Given the description of an element on the screen output the (x, y) to click on. 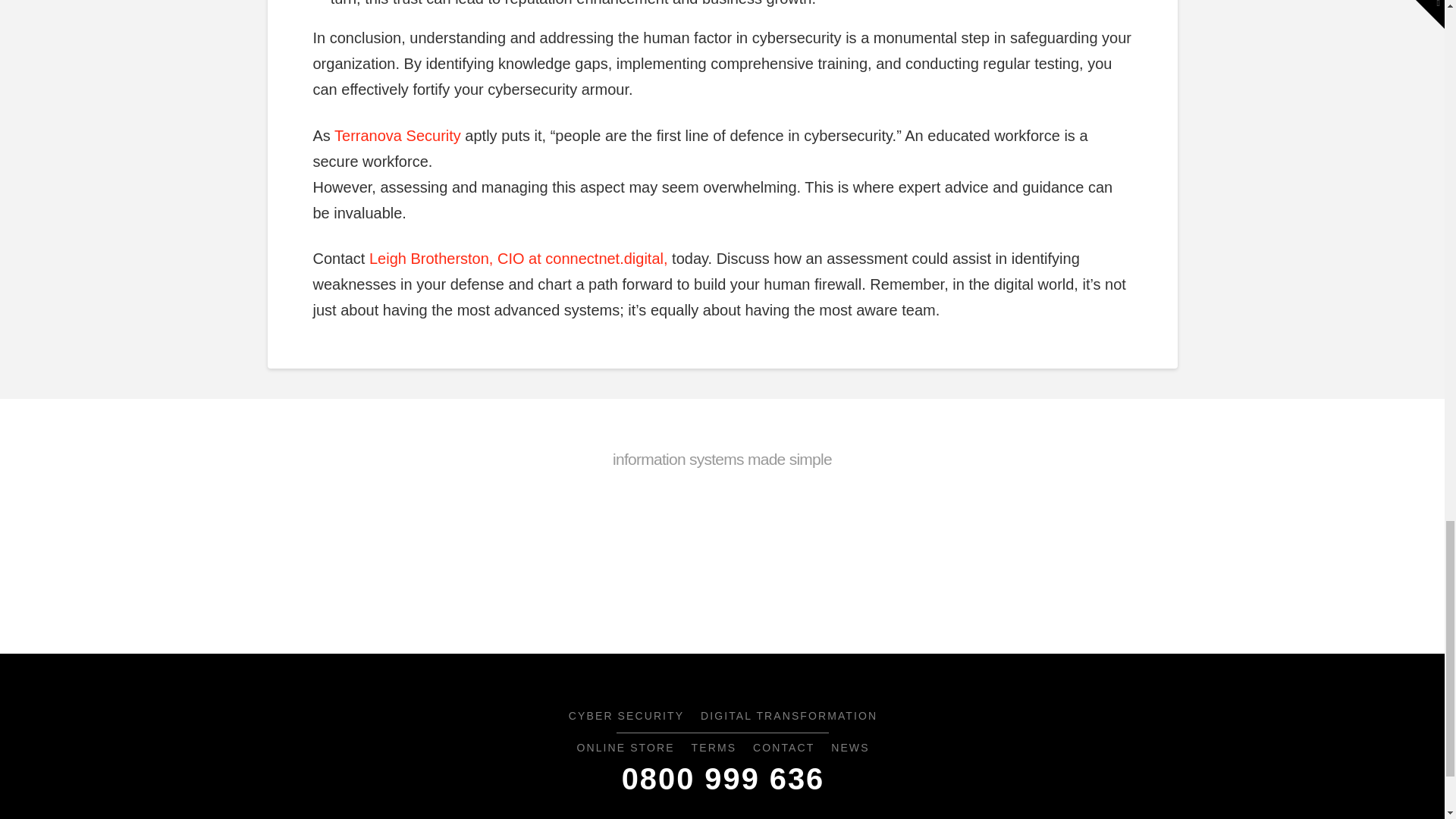
CONTACT (783, 749)
ONLINE STORE (624, 749)
DIGITAL TRANSFORMATION (788, 717)
Terranova Security (397, 135)
NEWS (849, 749)
TERMS (713, 749)
Leigh Brotherston, CIO at connectnet.digital, (518, 258)
CYBER SECURITY (625, 717)
0800 999 636 (722, 779)
